Given the description of an element on the screen output the (x, y) to click on. 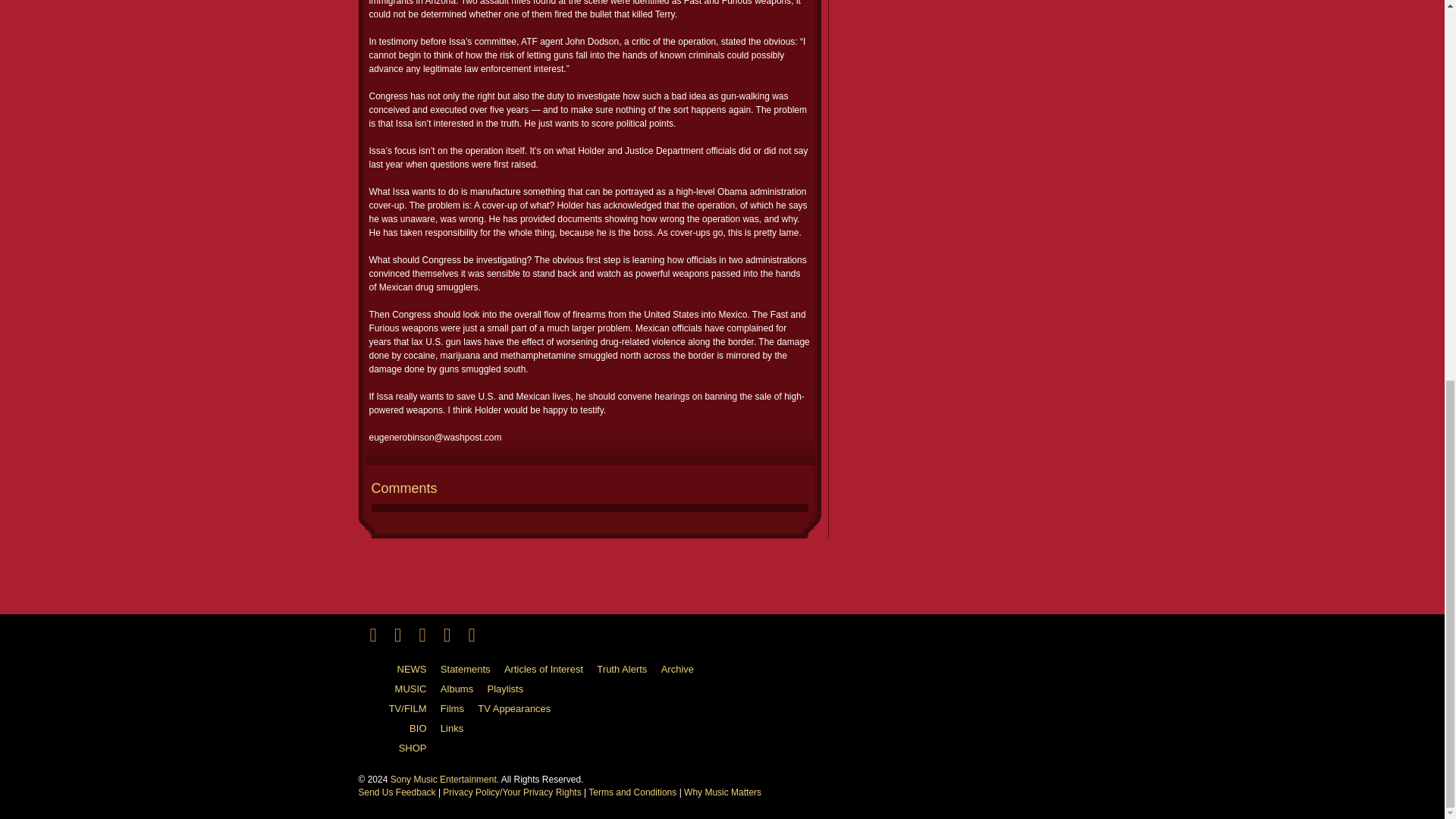
Albums (462, 689)
NEWS (398, 669)
Articles of Interest (548, 669)
Truth Alerts (627, 669)
MUSIC (398, 689)
Statements (471, 669)
Playlists (511, 689)
Archive (682, 669)
